Given the description of an element on the screen output the (x, y) to click on. 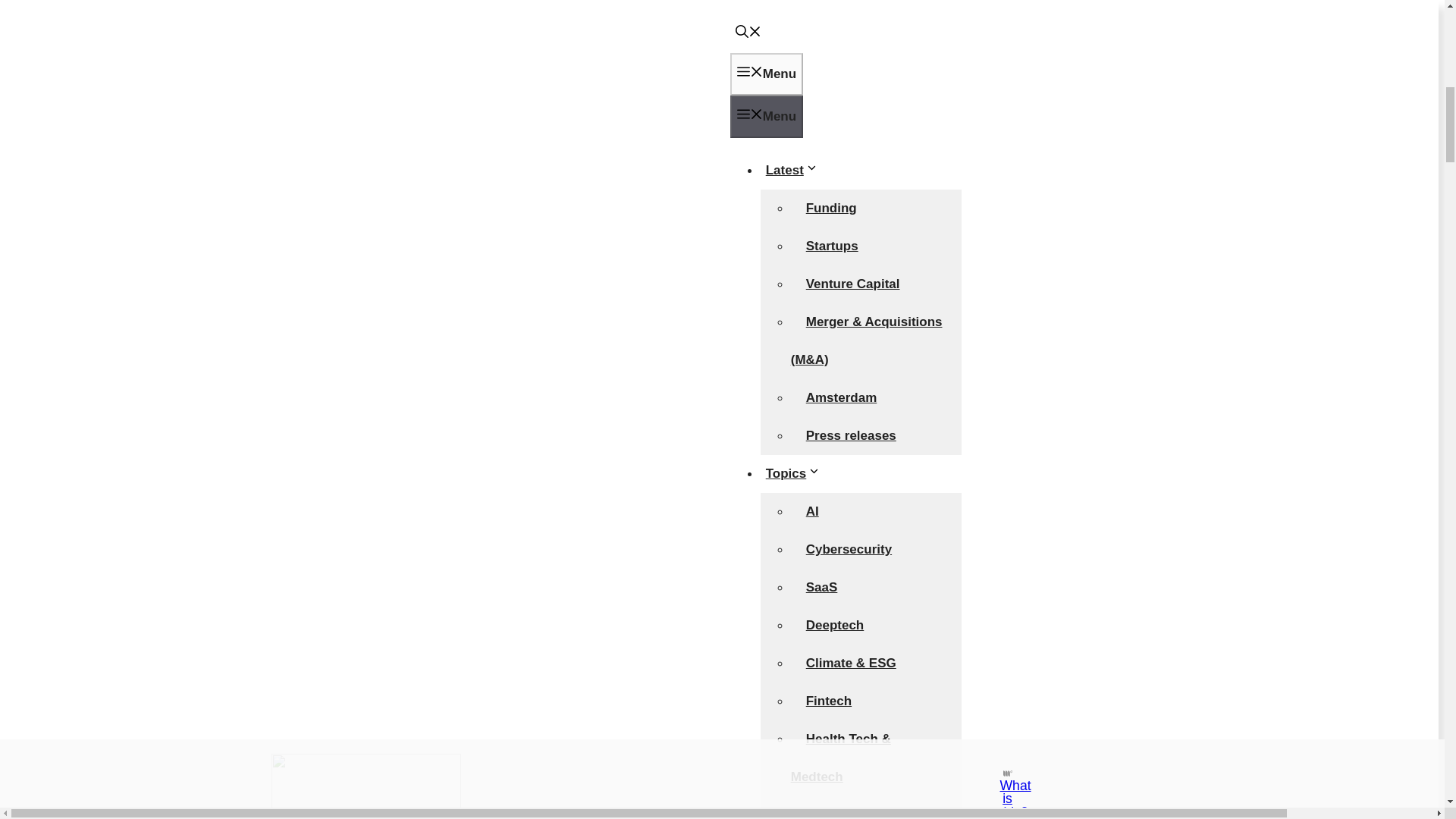
Diverse Leaders in Tech (855, 453)
These startups are hiring (855, 790)
Event calendar (851, 586)
Exclusive (802, 283)
SC 10 year horizontal (365, 186)
Event News (841, 624)
Guest contributions (866, 510)
Hardware (834, 169)
Edtech (827, 17)
Find a tech job (851, 699)
Work (789, 662)
Scroll back to top (1406, 708)
HR-tech (830, 206)
Energy (827, 93)
Events (794, 548)
